Given the description of an element on the screen output the (x, y) to click on. 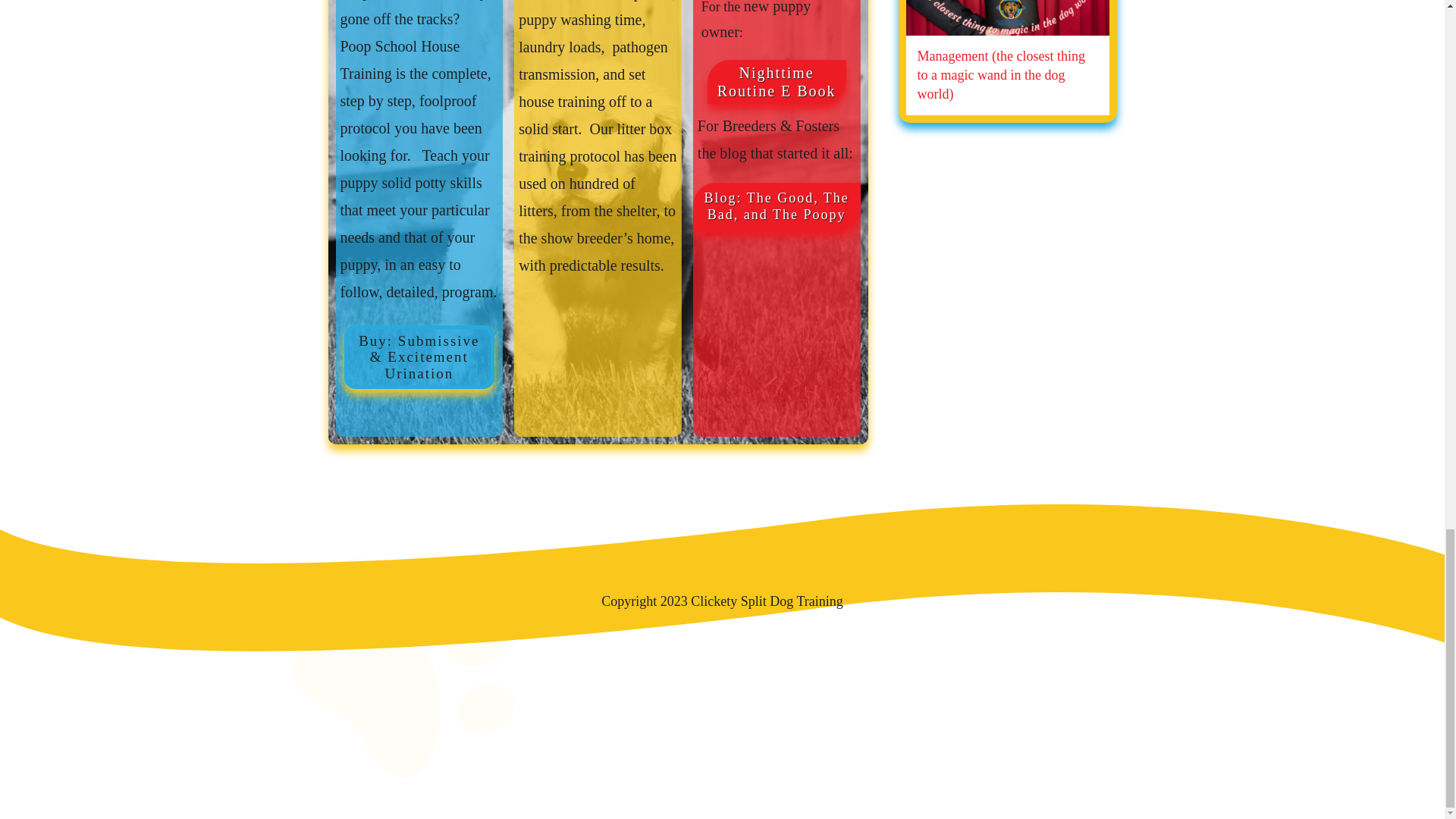
Nighttime Routine E Book (776, 81)
Blog: The Good, The Bad, and The Poopy (776, 206)
